Given the description of an element on the screen output the (x, y) to click on. 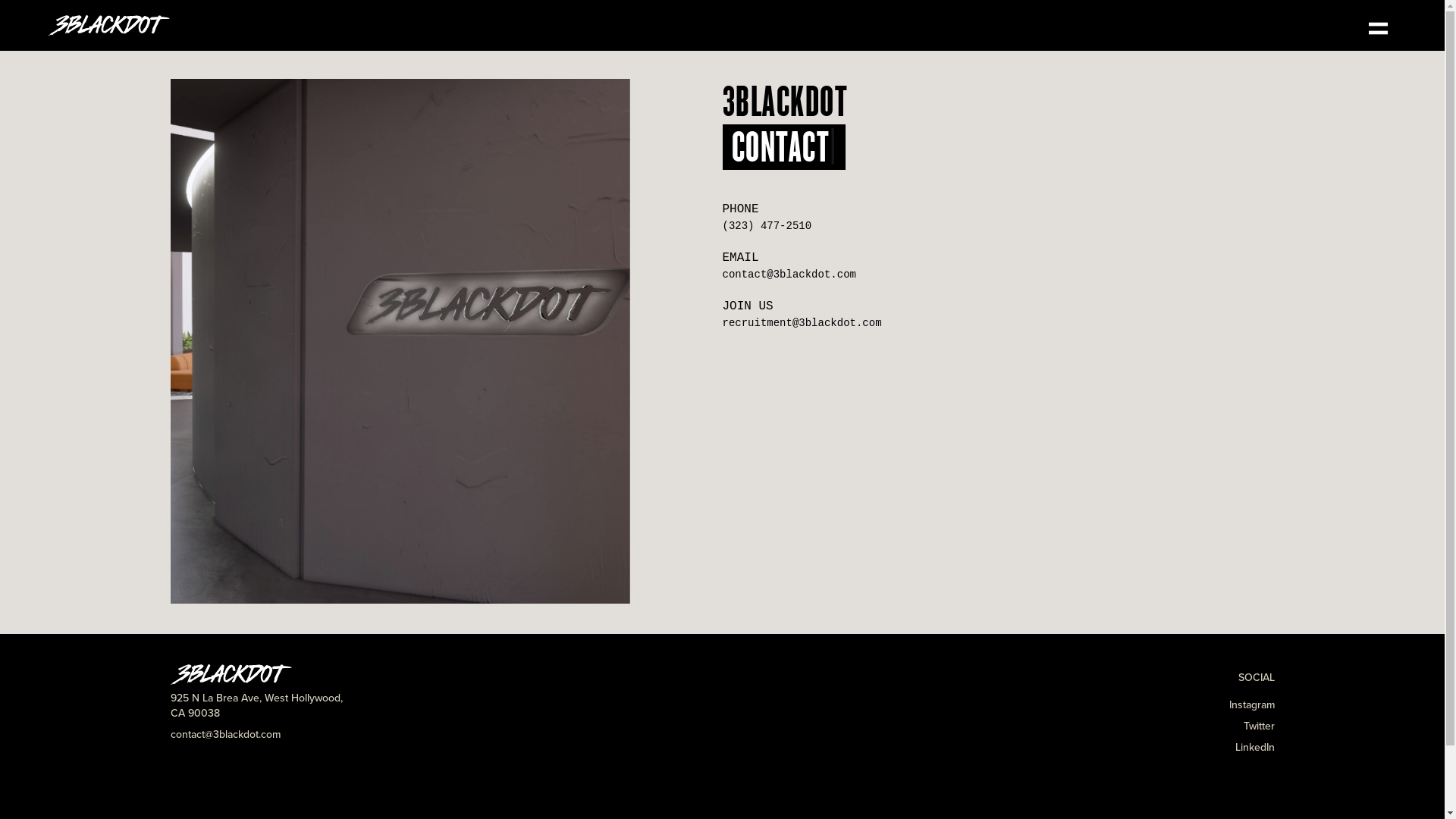
Twitter Element type: text (1258, 725)
Instagram Element type: text (1251, 704)
LinkedIn Element type: text (1254, 746)
Open Menu Element type: text (1377, 27)
